Given the description of an element on the screen output the (x, y) to click on. 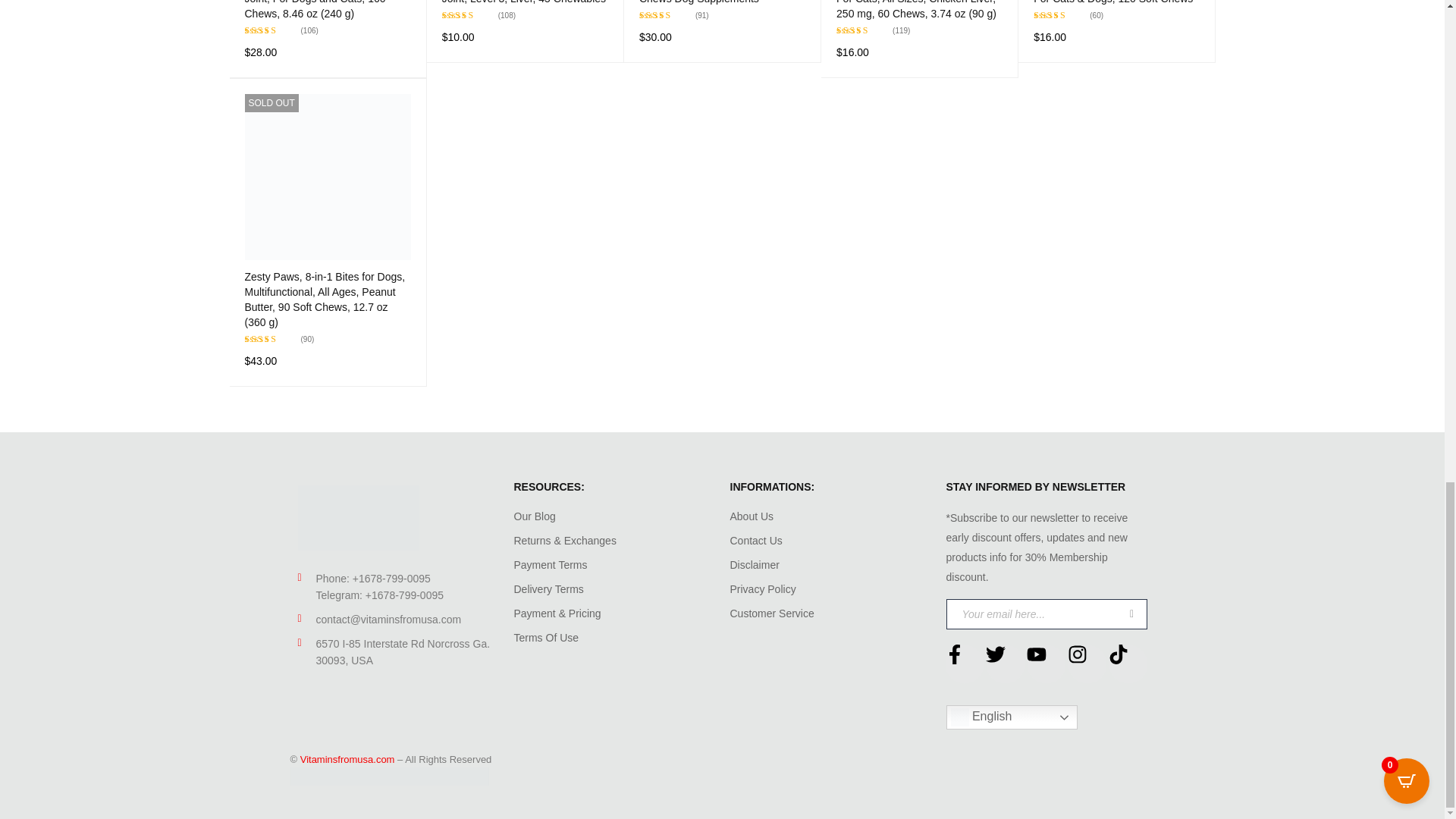
Payment Terms (550, 564)
